Given the description of an element on the screen output the (x, y) to click on. 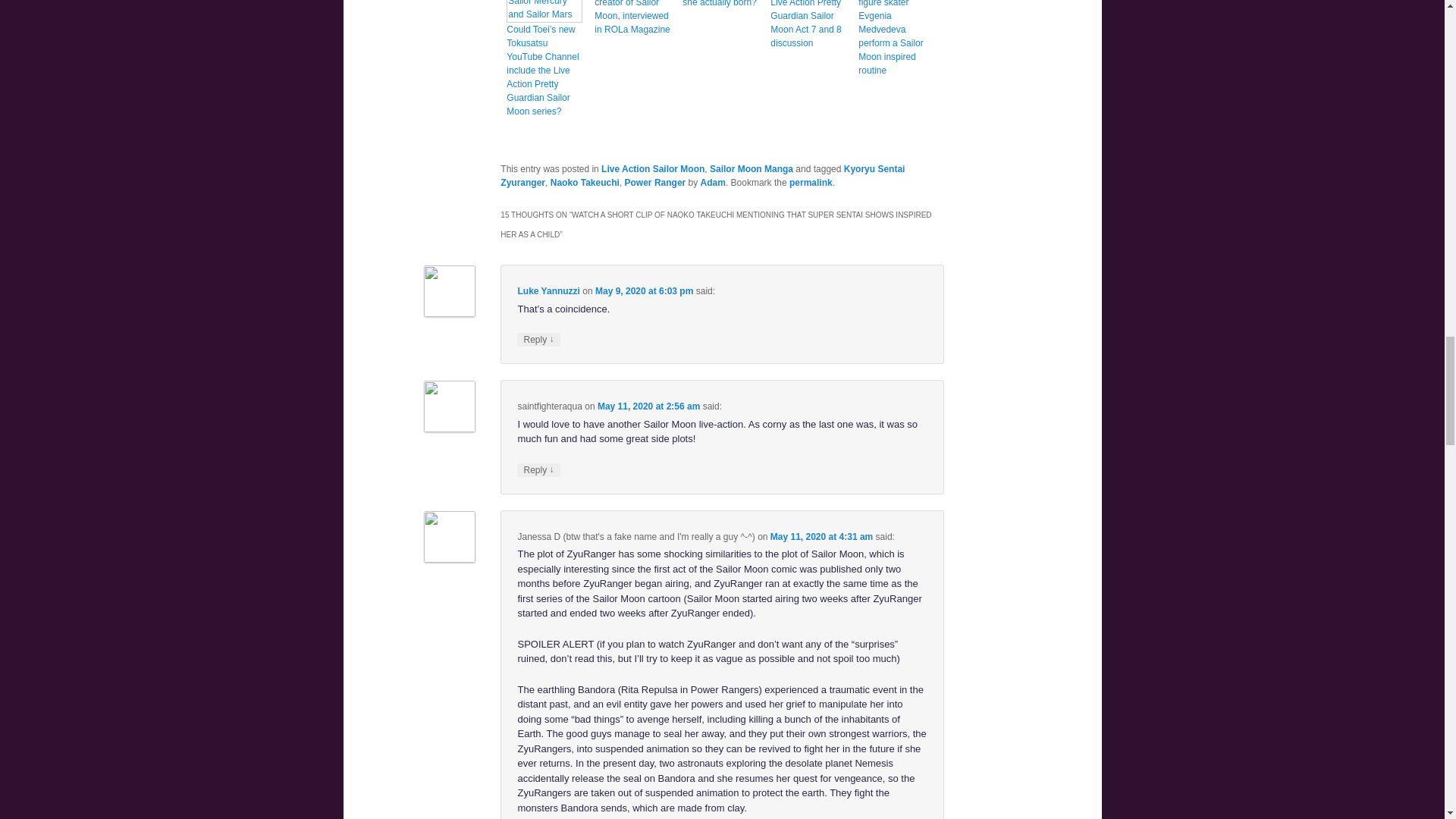
Naoko Takeuchi (585, 182)
Live Action Sailor Moon (652, 168)
Adam (712, 182)
Kyoryu Sentai Zyuranger (702, 175)
Sailor Moon Manga (751, 168)
Power Ranger (654, 182)
